Given the description of an element on the screen output the (x, y) to click on. 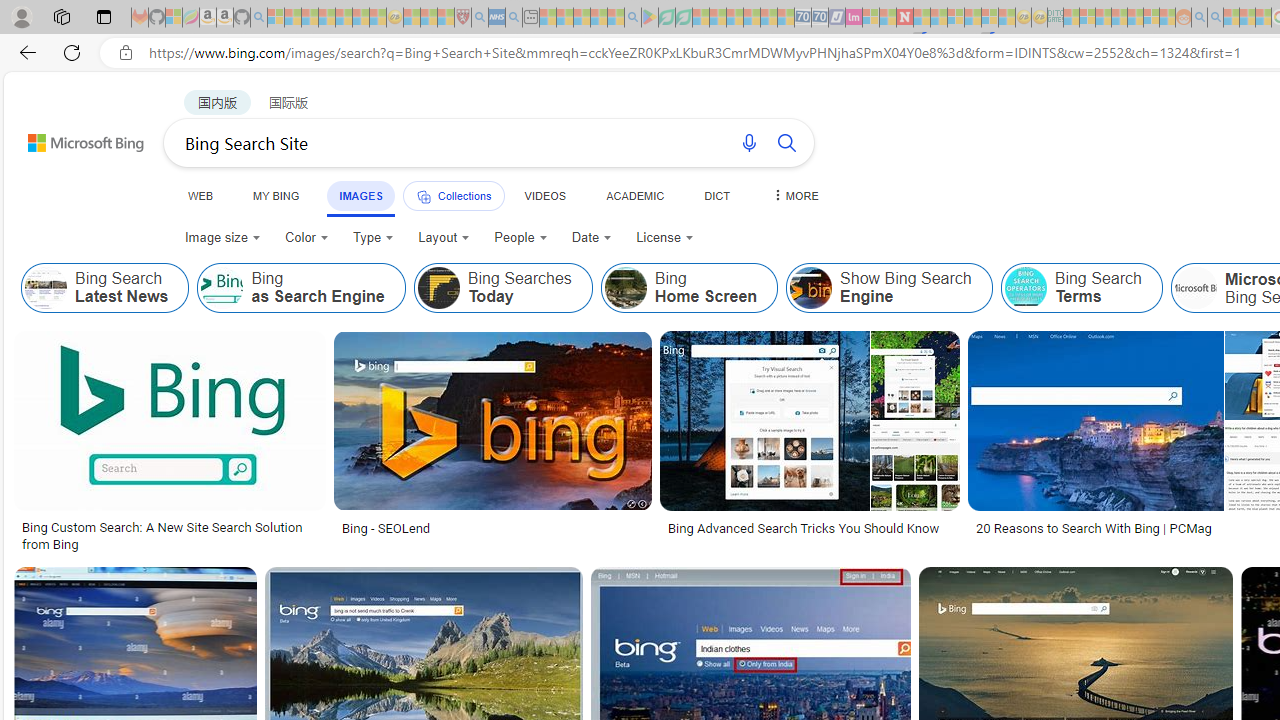
Microsoft Bing Search (1195, 287)
Show Bing Search Engine (889, 287)
Search using voice (748, 142)
Bing Home Screen (689, 287)
Type (373, 237)
